Given the description of an element on the screen output the (x, y) to click on. 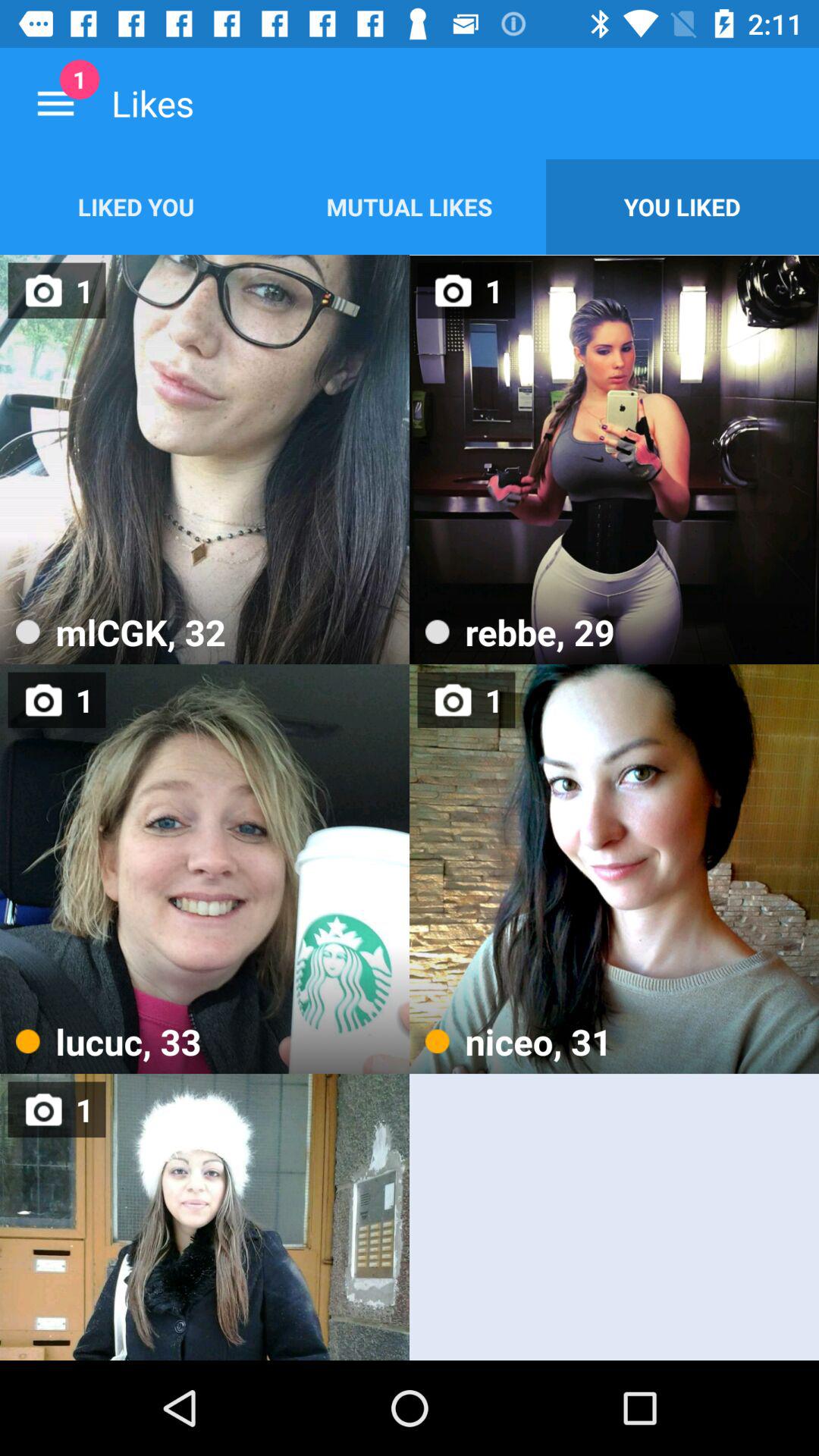
choose item above the liked you icon (55, 103)
